Given the description of an element on the screen output the (x, y) to click on. 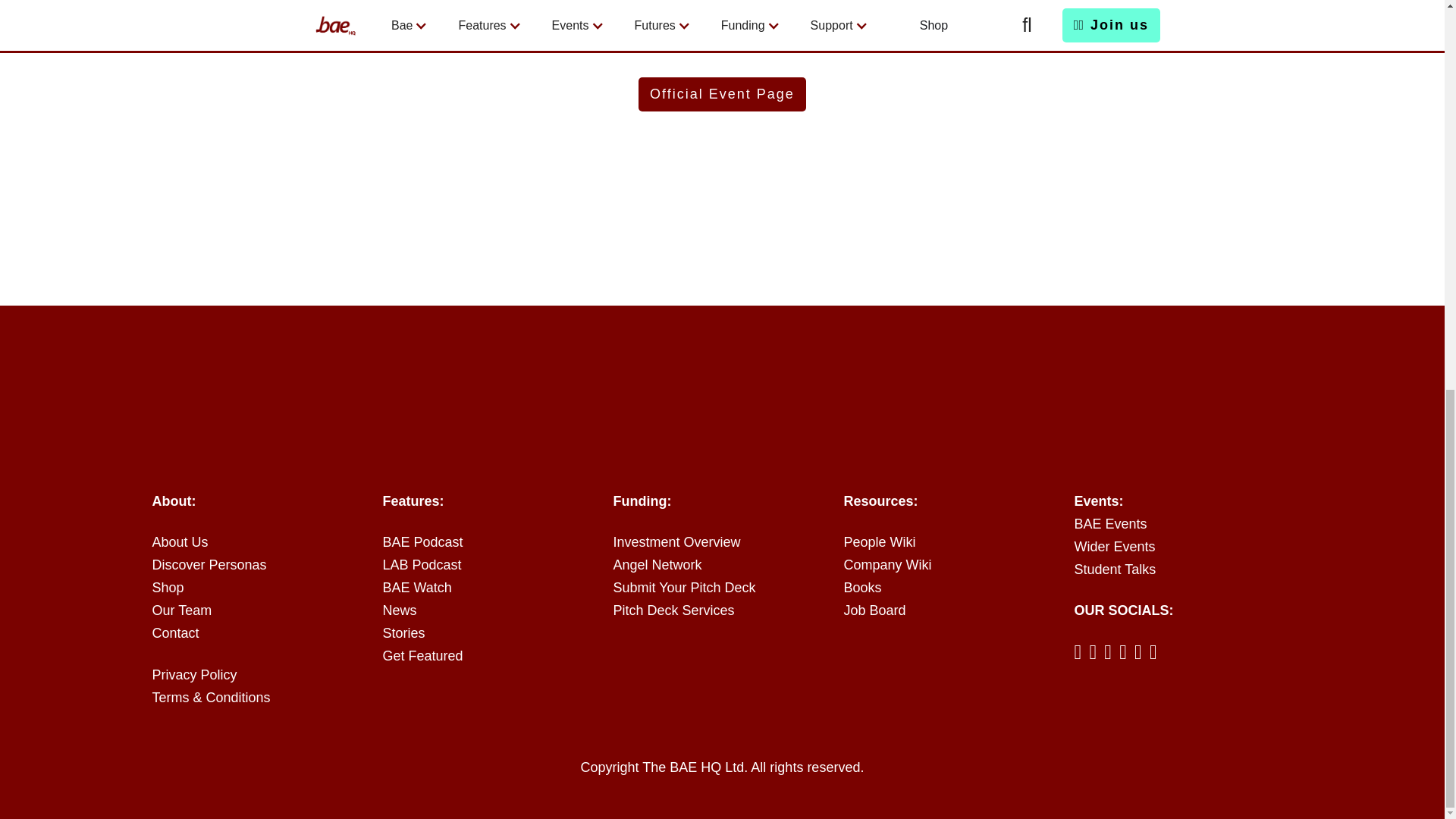
About Us (260, 542)
BAE Podcast (490, 542)
Our Team (260, 610)
LAB Podcast (490, 565)
Official Event Page (722, 93)
Contact (260, 633)
Privacy Policy (260, 675)
Discover Personas (260, 565)
Shop (260, 588)
